Given the description of an element on the screen output the (x, y) to click on. 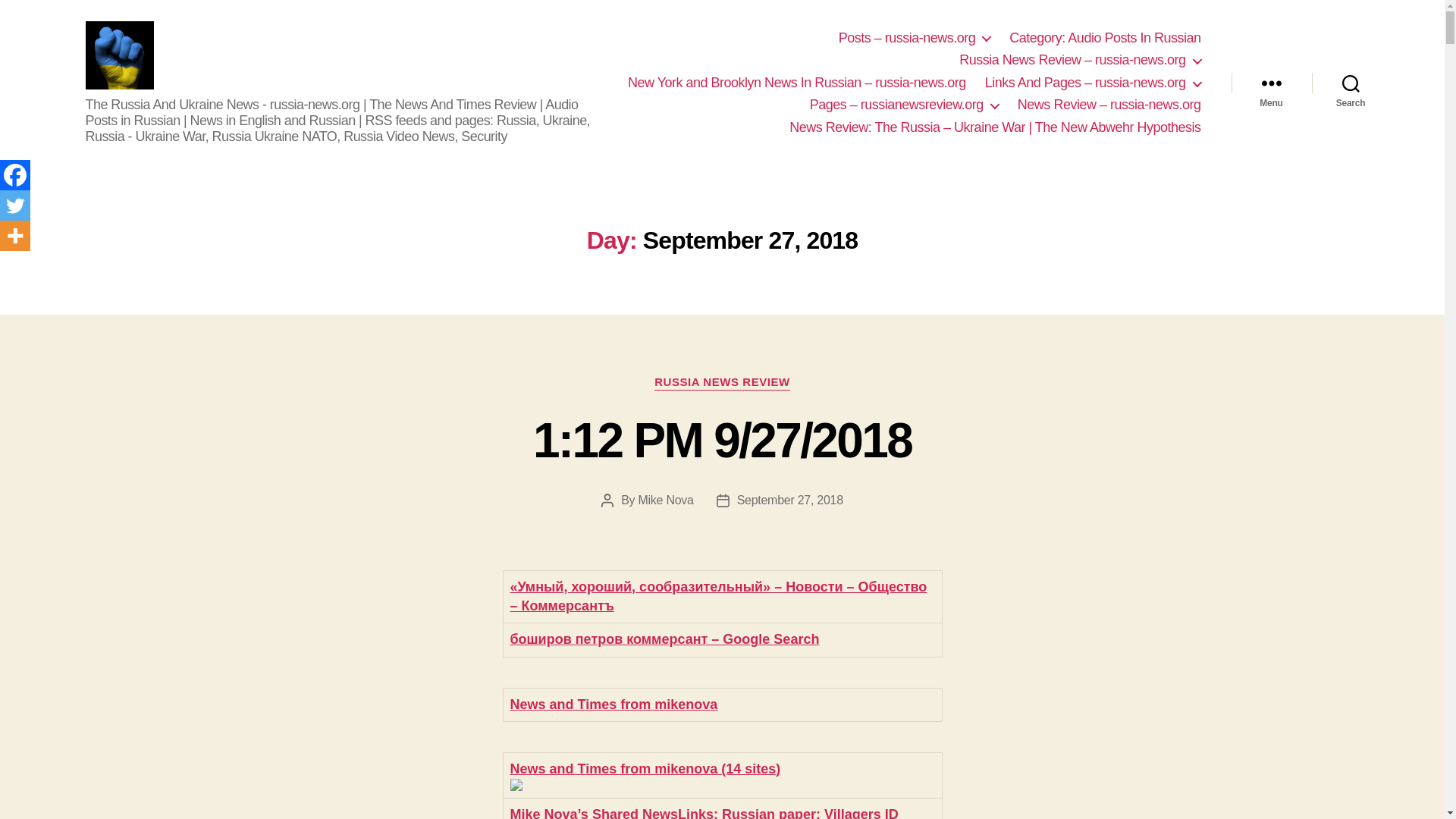
Category: Audio Posts In Russian (1104, 38)
Menu (1271, 82)
More (15, 235)
Search (1350, 82)
Facebook (15, 174)
Twitter (15, 205)
